Given the description of an element on the screen output the (x, y) to click on. 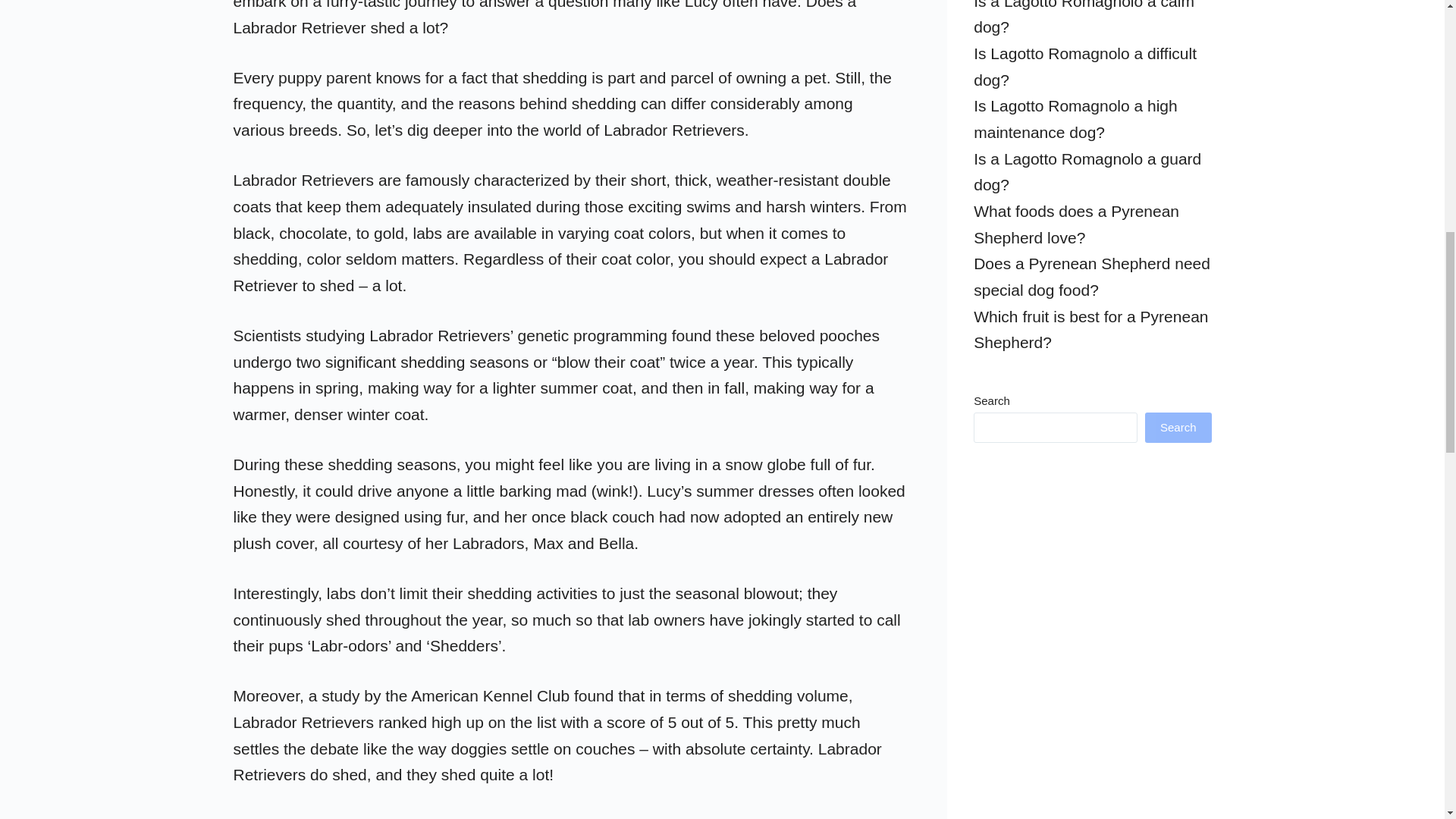
Which fruit is best for a Pyrenean Shepherd? (1091, 329)
Search (1177, 427)
Does a Pyrenean Shepherd need special dog food? (1091, 276)
Is a Lagotto Romagnolo a guard dog? (1087, 171)
Is a Lagotto Romagnolo a calm dog? (1083, 18)
Is Lagotto Romagnolo a high maintenance dog? (1075, 118)
What foods does a Pyrenean Shepherd love? (1076, 224)
Is Lagotto Romagnolo a difficult dog? (1085, 66)
